Given the description of an element on the screen output the (x, y) to click on. 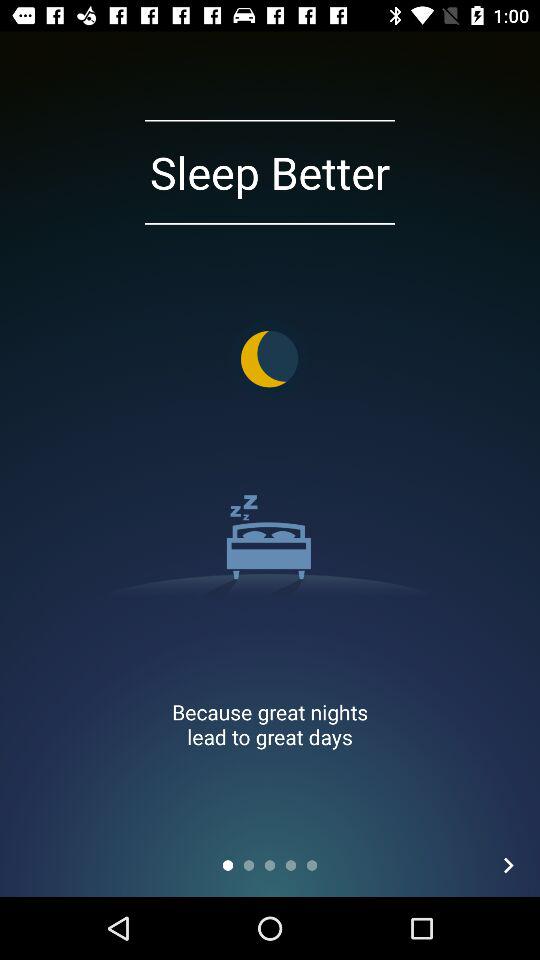
choose icon below because great nights item (508, 864)
